Given the description of an element on the screen output the (x, y) to click on. 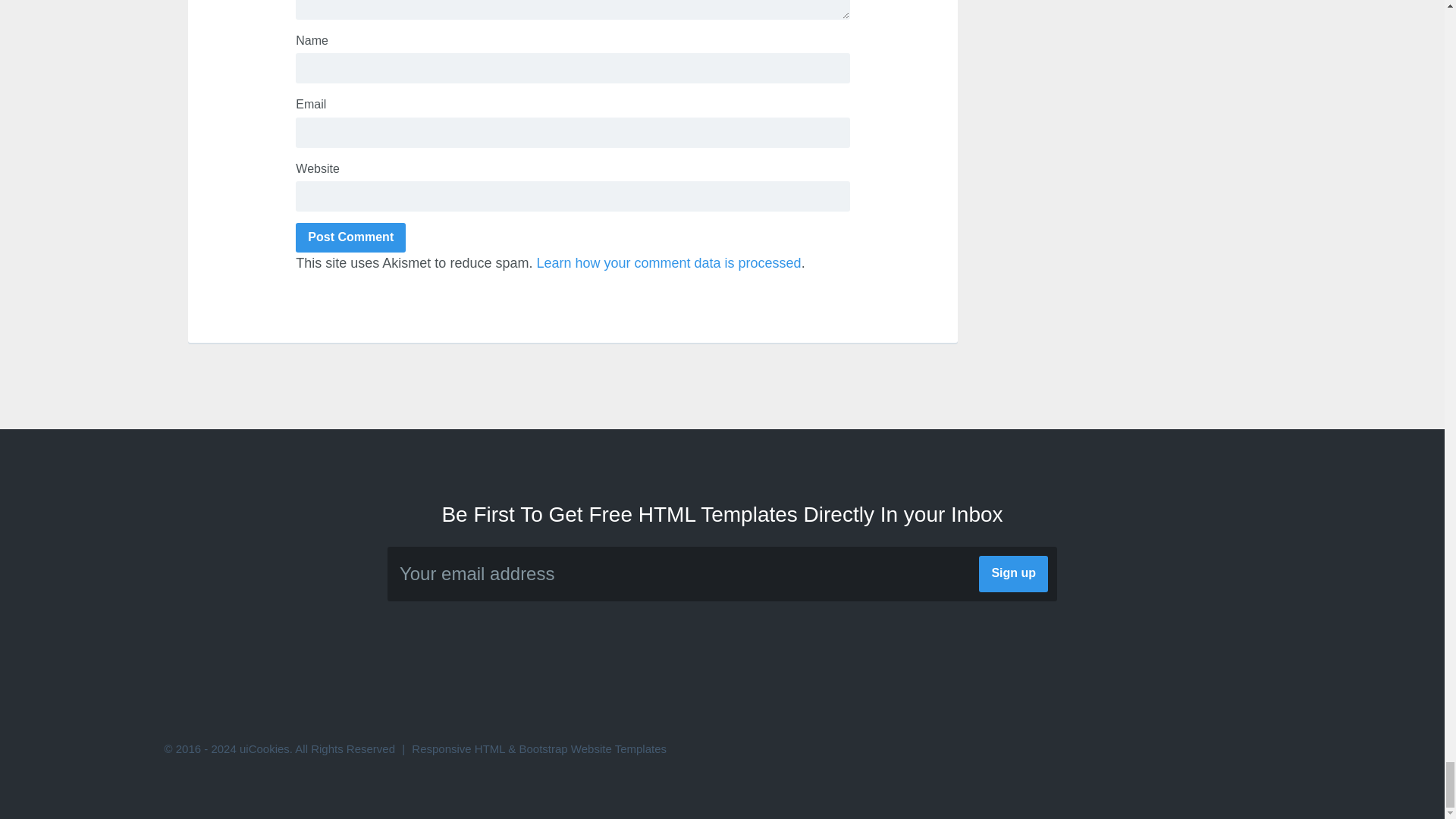
Sign up (1013, 574)
Post Comment (350, 237)
